Given the description of an element on the screen output the (x, y) to click on. 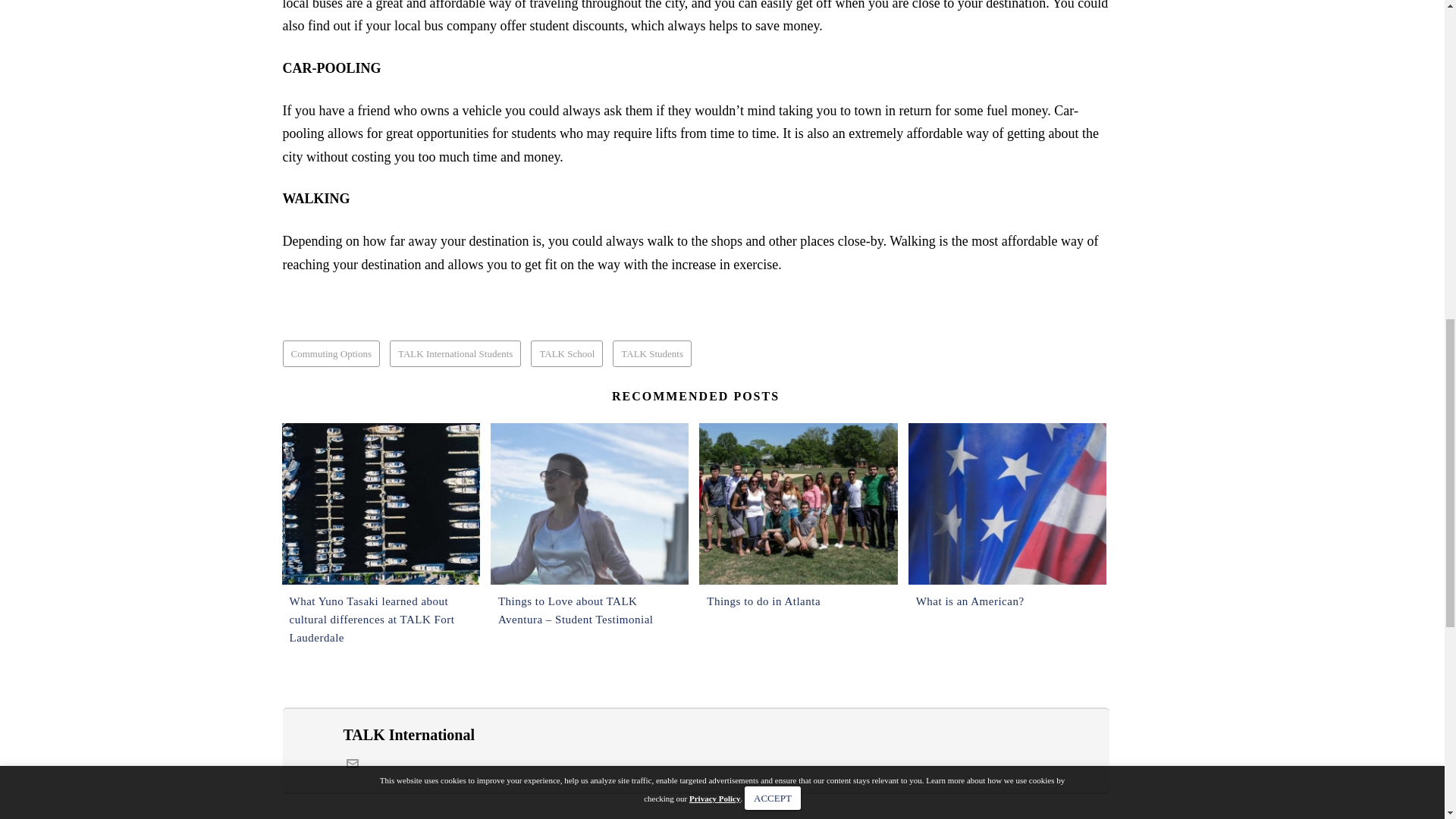
Things to do in Atlanta (797, 503)
